Given the description of an element on the screen output the (x, y) to click on. 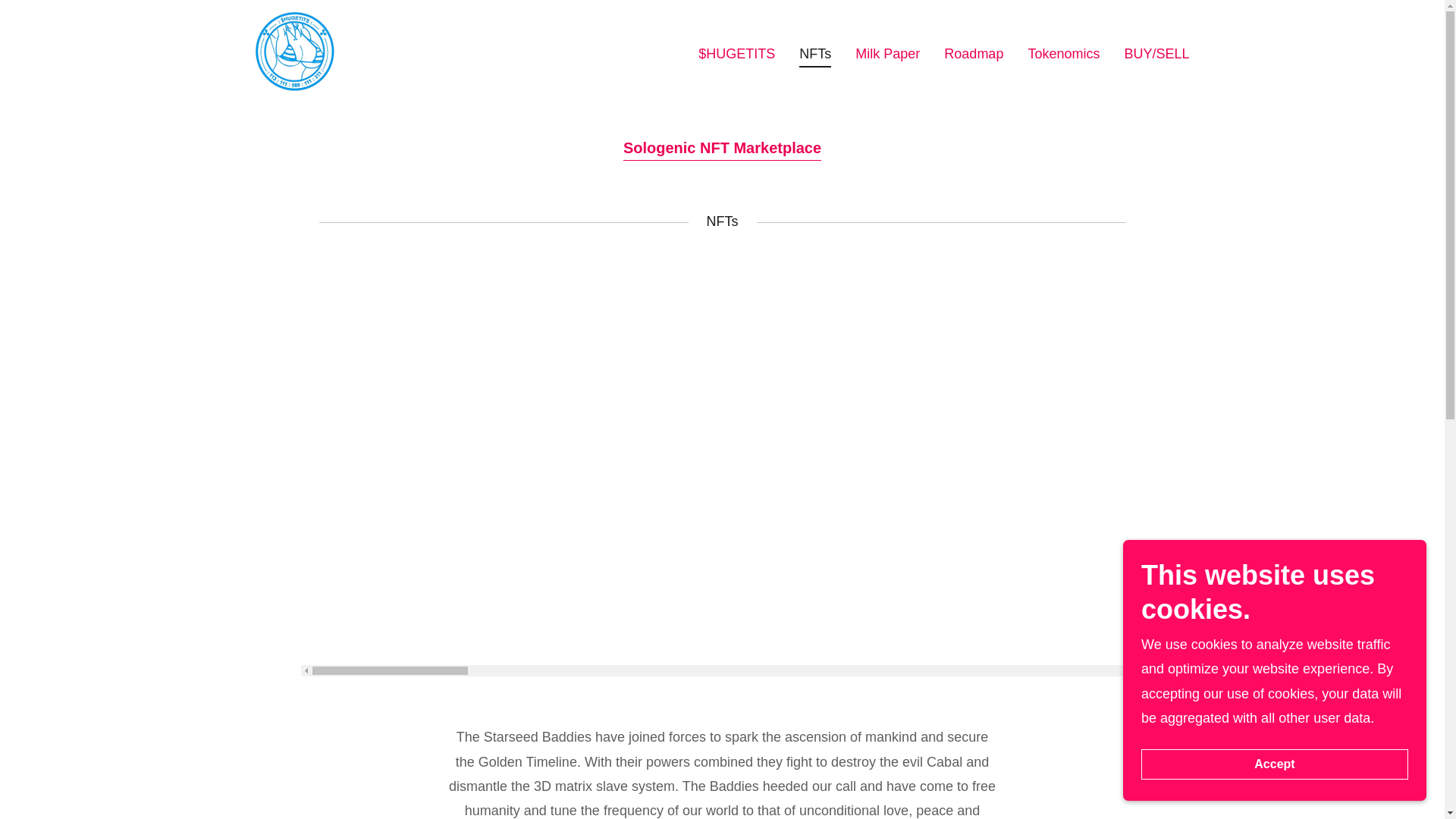
HugeTits Crypto (293, 50)
NFTs (815, 55)
Accept (1274, 764)
Tokenomics (1063, 52)
Milk Paper (887, 52)
Sologenic NFT Marketplace (722, 145)
Roadmap (973, 52)
